Given the description of an element on the screen output the (x, y) to click on. 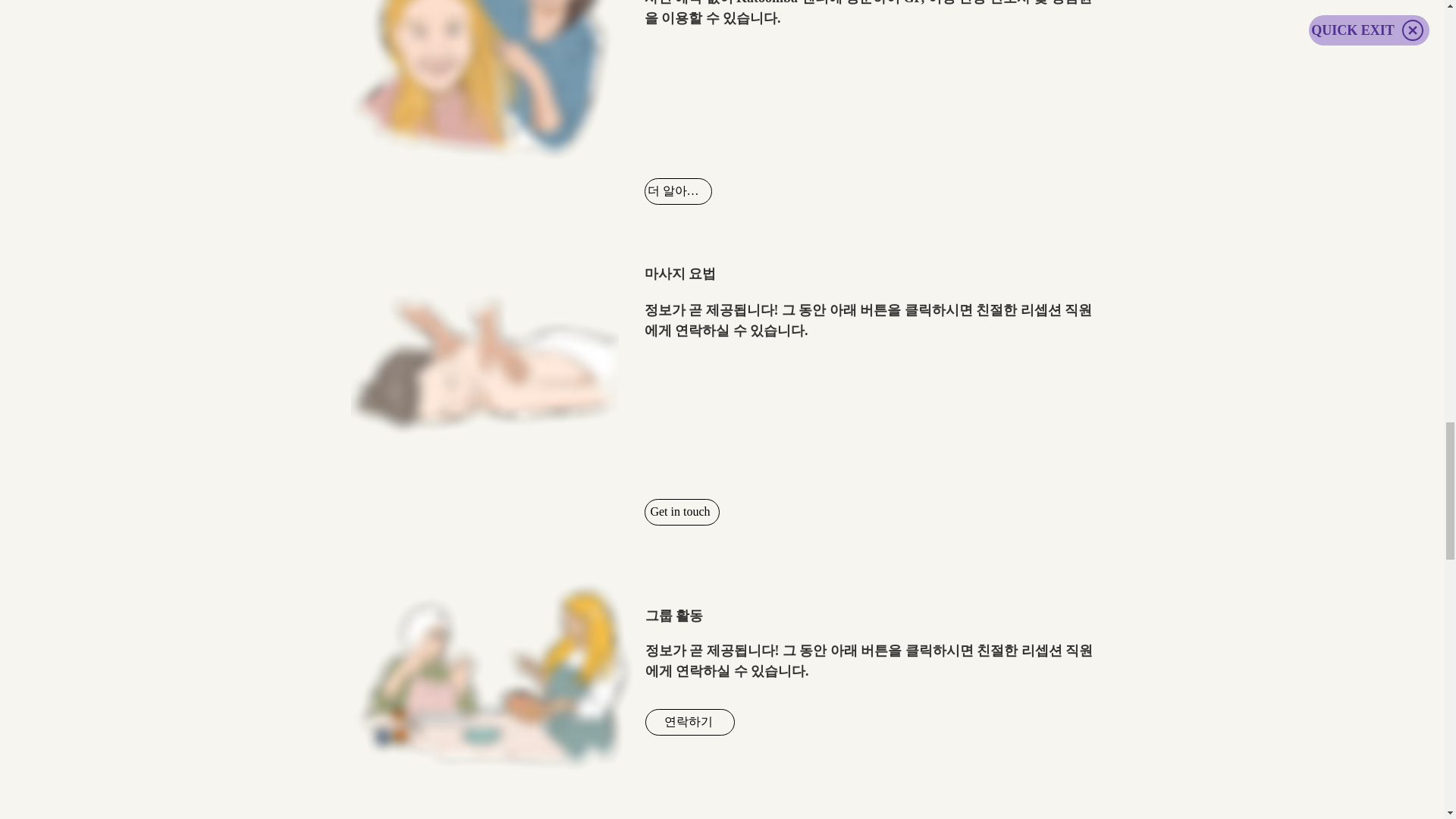
Get in touch (682, 511)
